Given the description of an element on the screen output the (x, y) to click on. 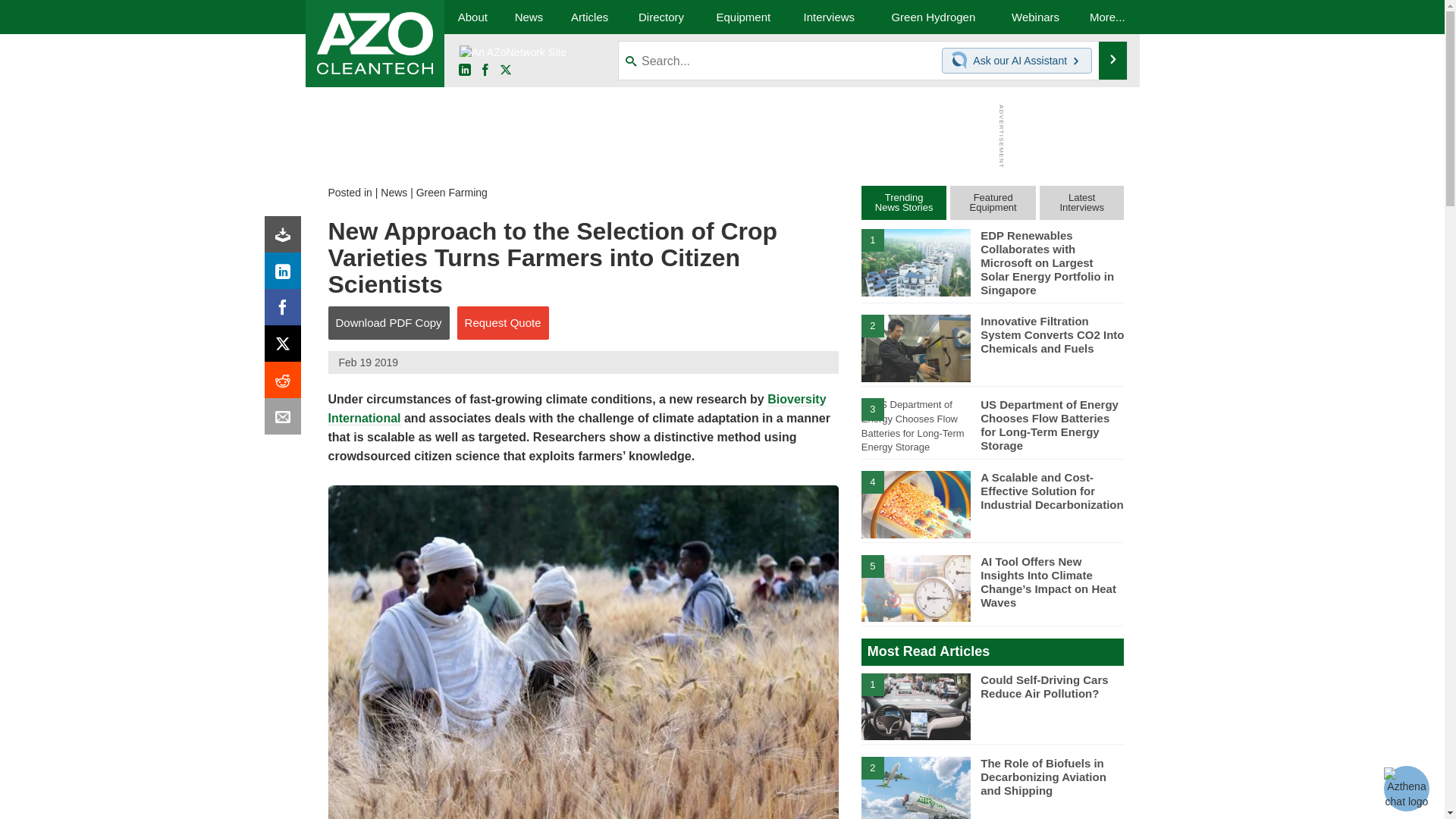
More... (1106, 17)
Reddit (285, 384)
X (285, 348)
LinkedIn (464, 70)
About (472, 17)
Directory (660, 17)
Equipment (742, 17)
News (528, 17)
Green Hydrogen (932, 17)
X (505, 70)
